Given the description of an element on the screen output the (x, y) to click on. 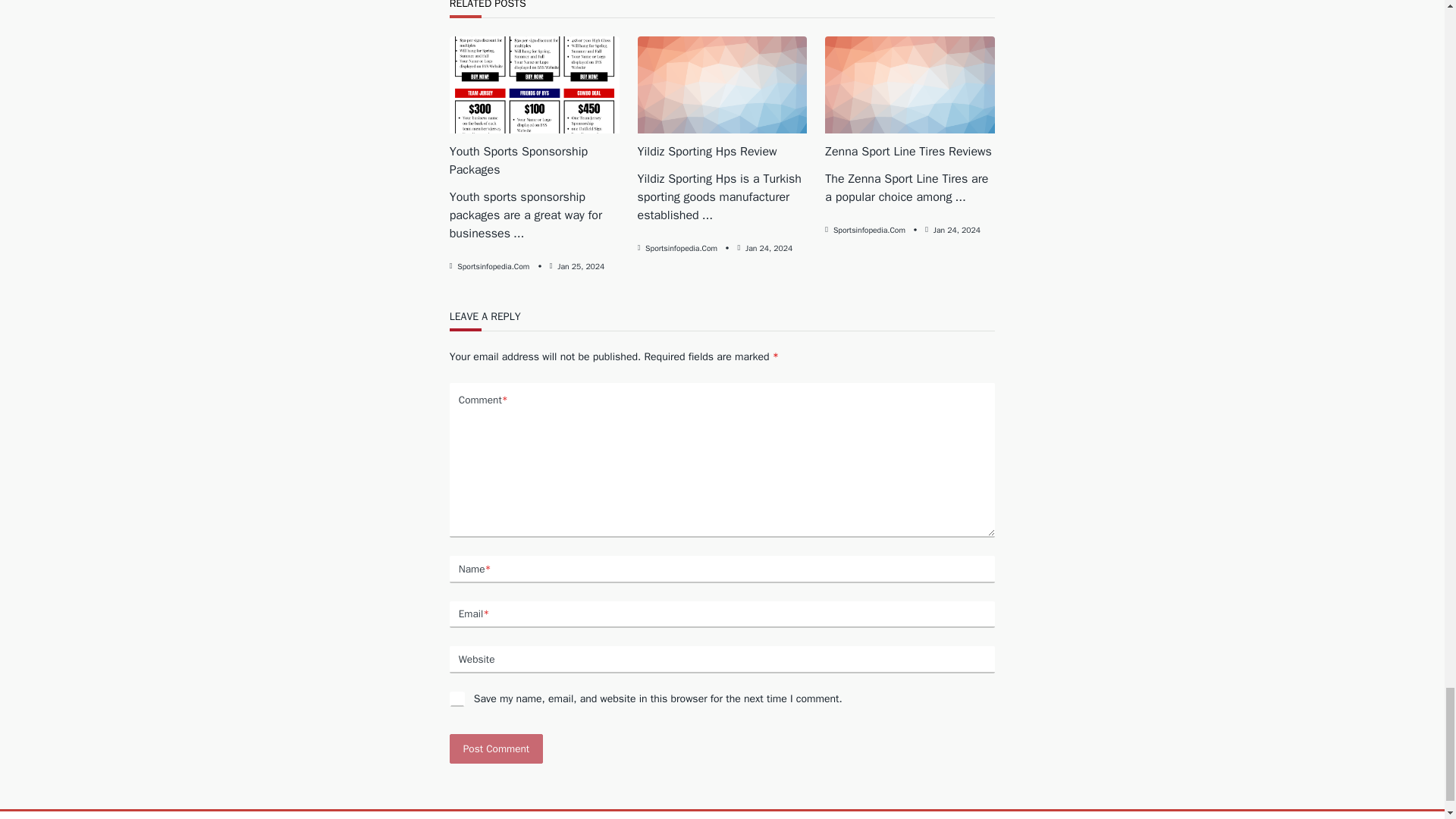
Post Comment (496, 748)
Youth Sports Sponsorship Packages (518, 160)
Sportsinfopedia.Com (681, 248)
Sportsinfopedia.Com (493, 266)
yes (456, 698)
Zenna Sport Line Tires Reviews (908, 151)
Jan 25, 2024 (580, 266)
Yildiz Sporting Hps Review (707, 151)
Jan 24, 2024 (768, 248)
